Given the description of an element on the screen output the (x, y) to click on. 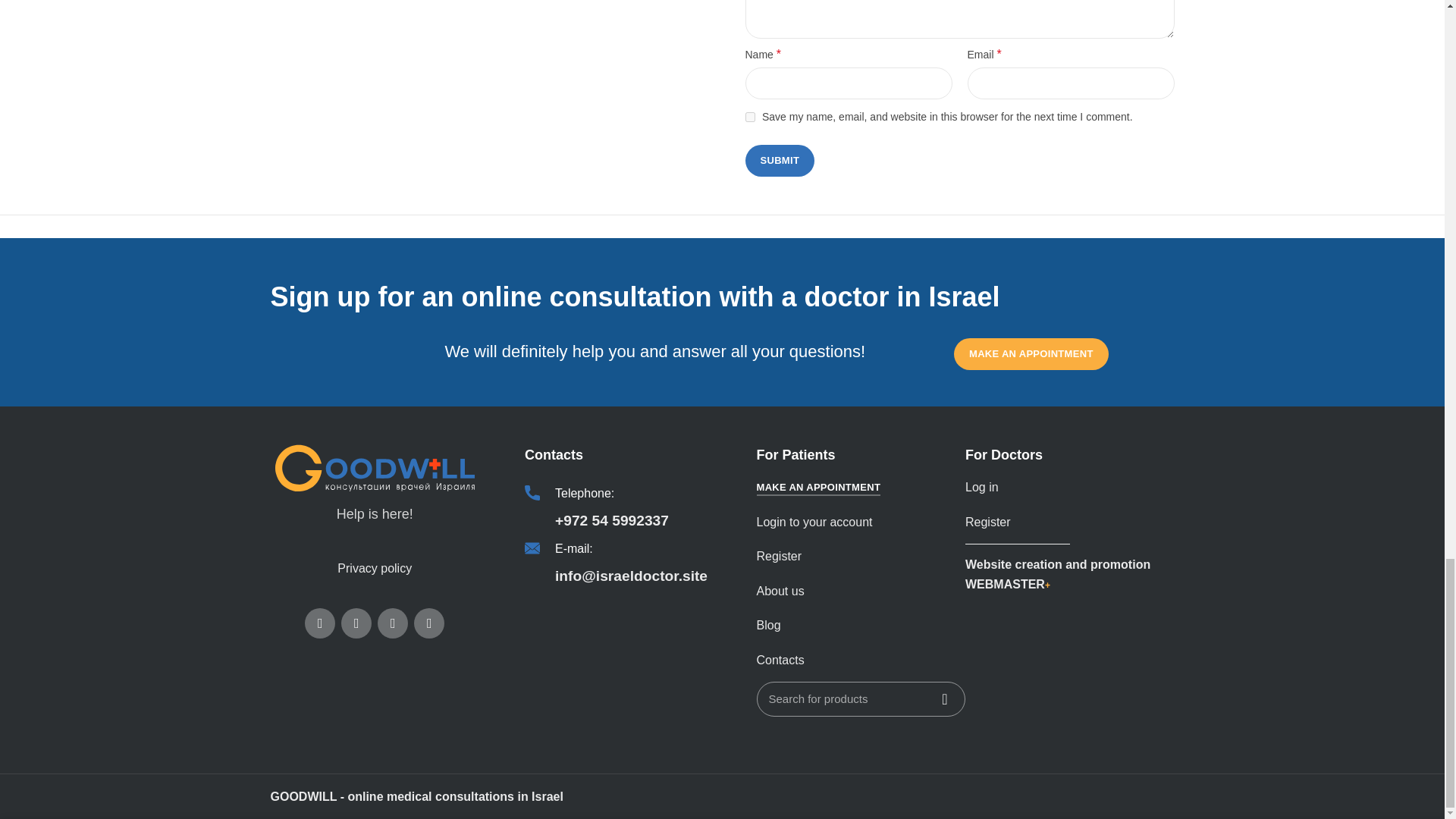
Submit (778, 160)
yes (749, 117)
MAKE AN APPOINTMENT (1030, 354)
